Given the description of an element on the screen output the (x, y) to click on. 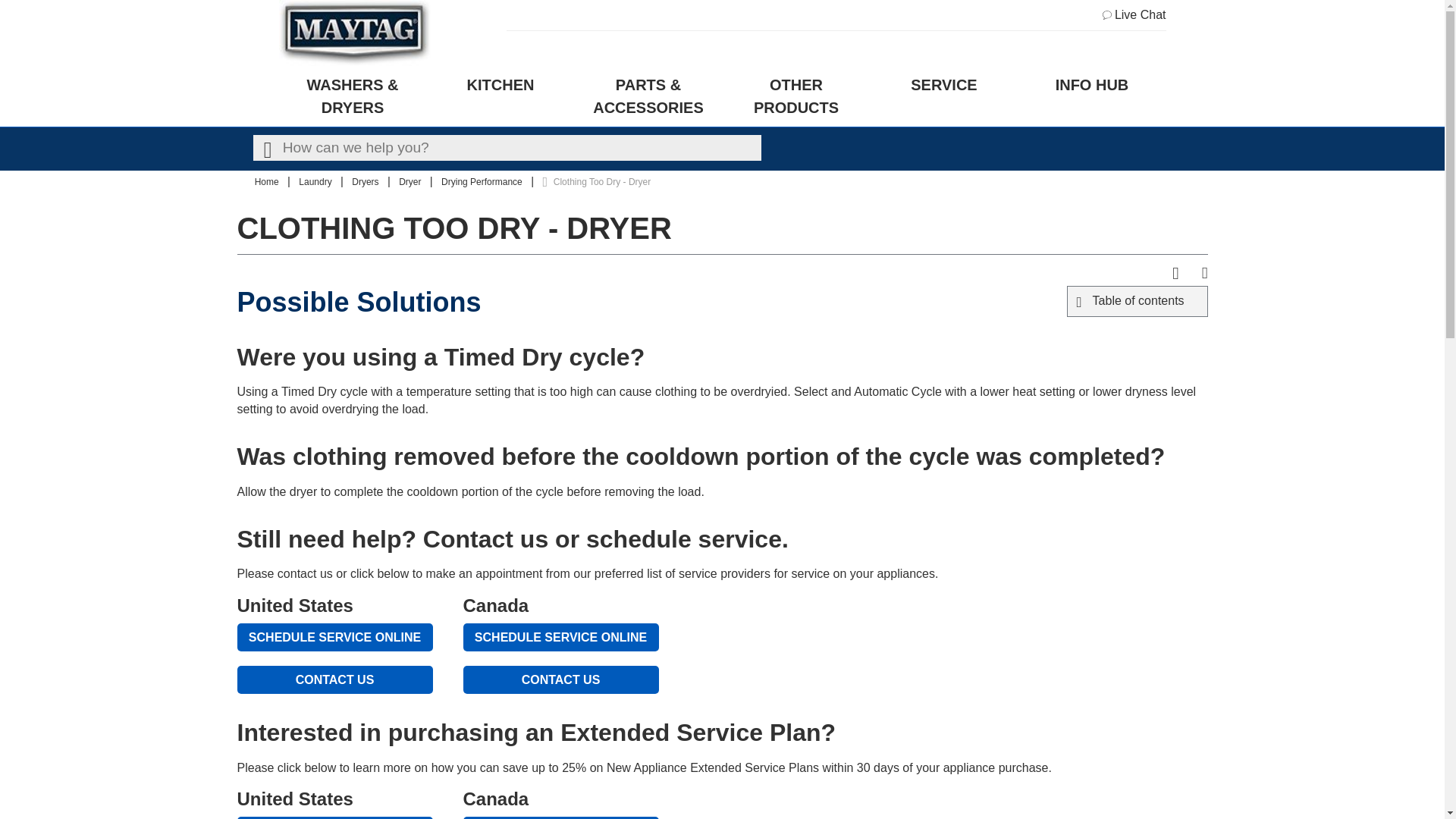
KITCHEN (499, 96)
Maytag (354, 33)
Chat (1134, 14)
OTHER PRODUCTS (795, 96)
SERVICE (943, 96)
INFO HUB (1091, 96)
Live Chat (1134, 14)
